Given the description of an element on the screen output the (x, y) to click on. 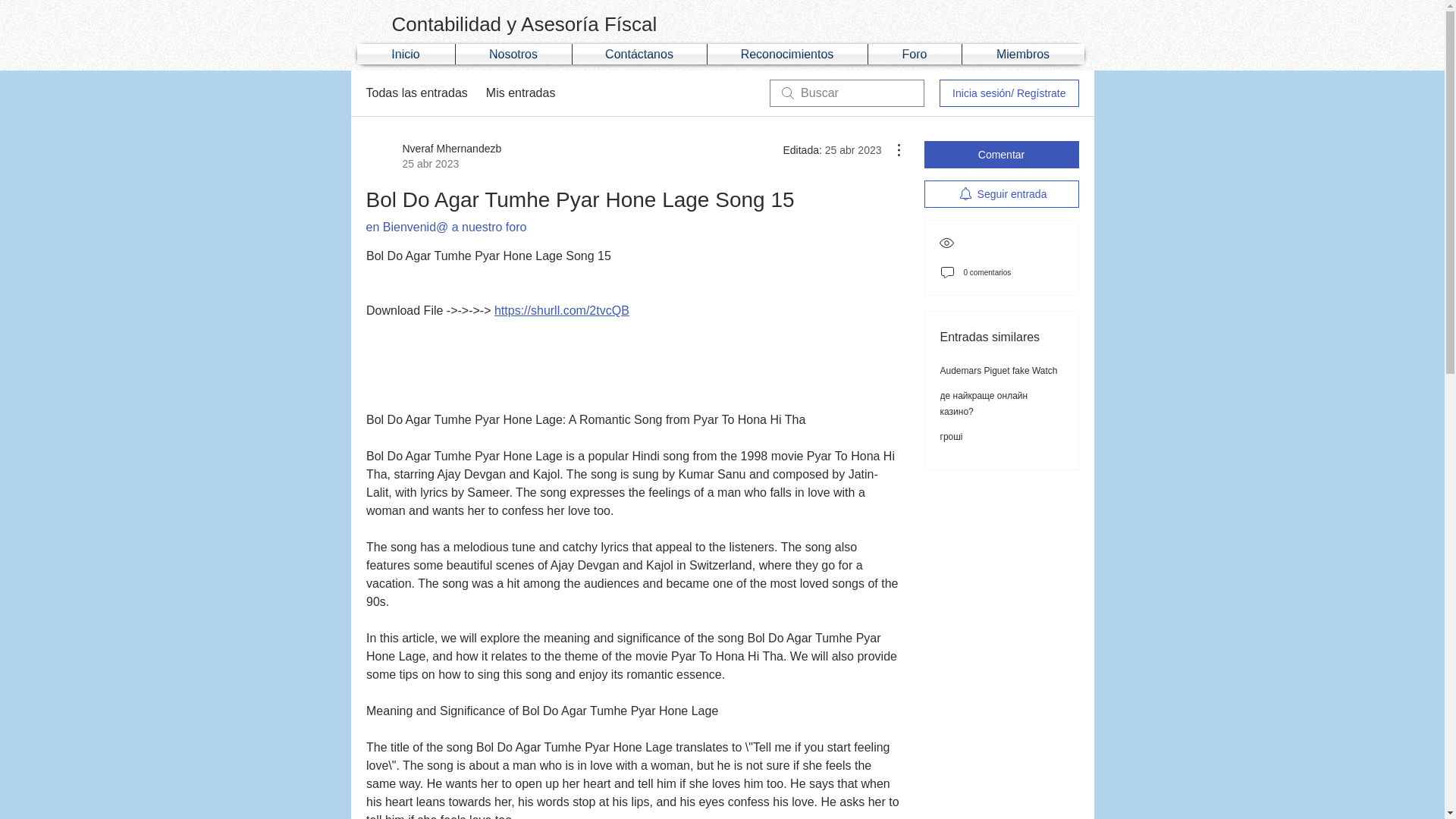
Miembros (1021, 54)
Mis entradas (521, 93)
Inicio (405, 54)
Seguir entrada (1000, 194)
Nosotros (512, 54)
Reconocimientos (786, 54)
Todas las entradas (416, 93)
Foro (913, 54)
Comentar (1000, 154)
Audemars Piguet fake Watch (999, 370)
